Given the description of an element on the screen output the (x, y) to click on. 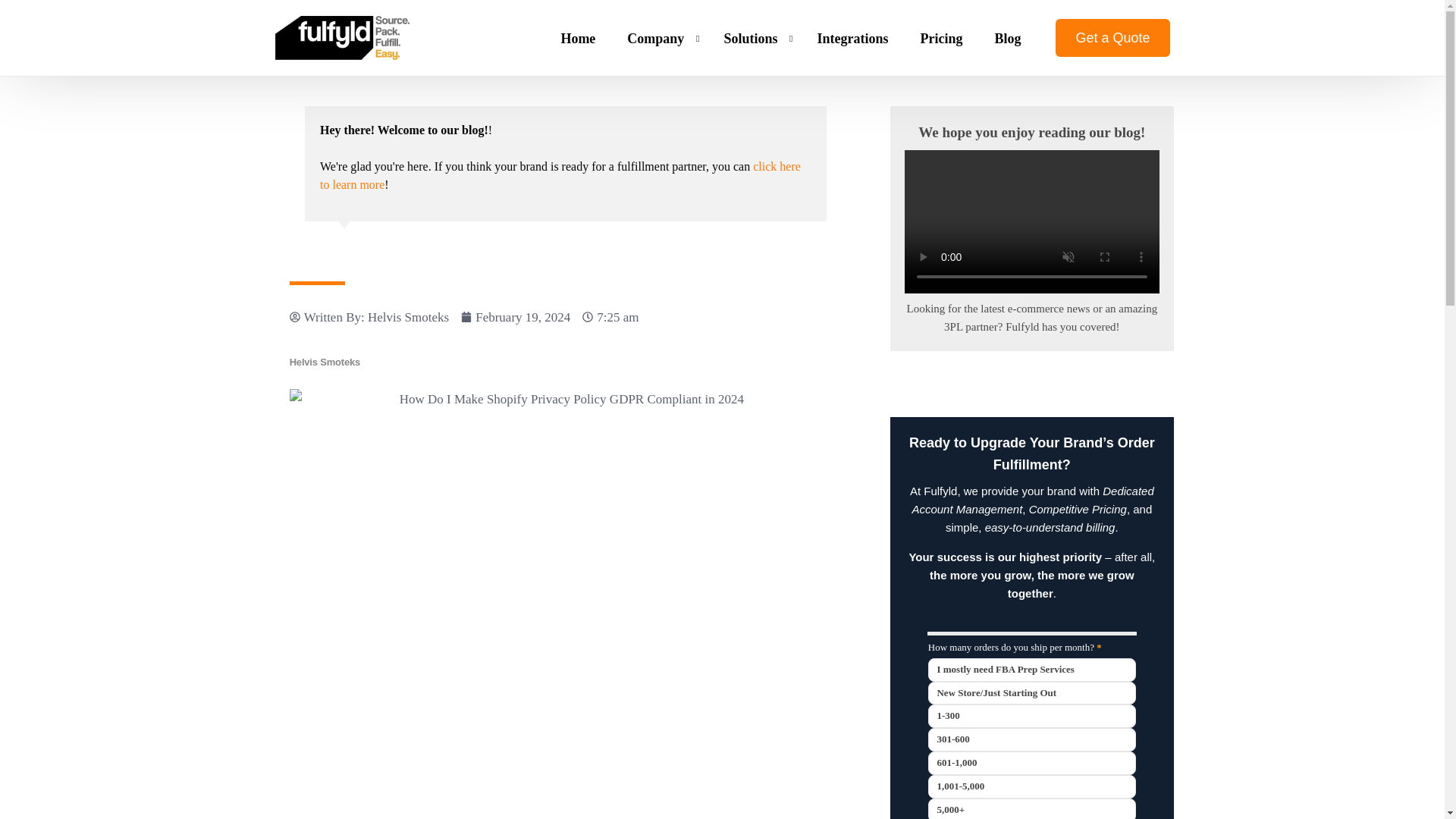
Company (659, 38)
Solutions (753, 38)
